Given the description of an element on the screen output the (x, y) to click on. 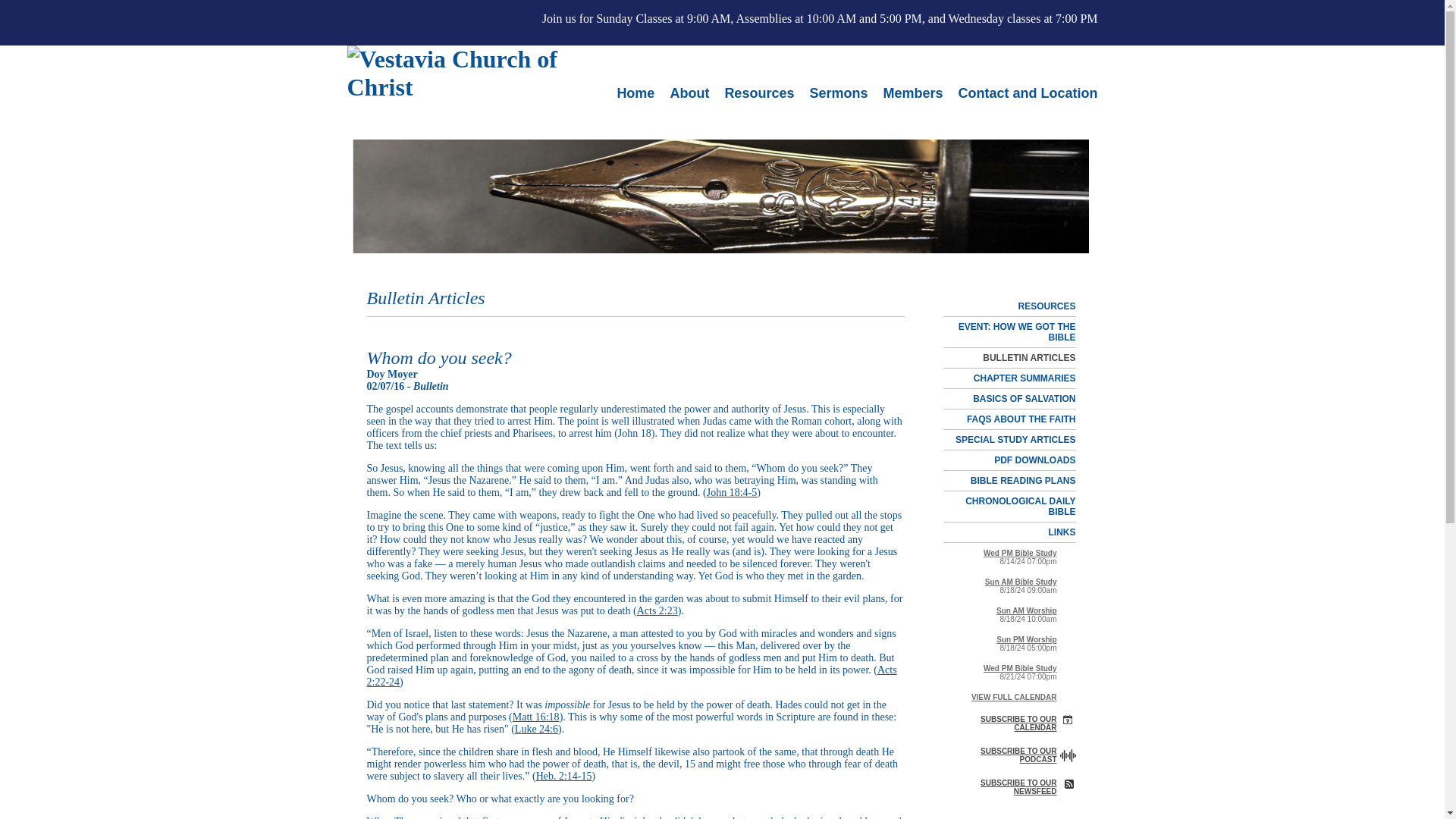
Matt 16:18 (535, 716)
Heb. 2:14-15 (563, 776)
Acts 2:22-24 (631, 675)
Home (635, 92)
Contact and Location (1023, 92)
About (689, 92)
John 18:4-5 (731, 491)
Acts 2:23 (657, 610)
Luke 24:6 (536, 728)
Resources (759, 92)
